Given the description of an element on the screen output the (x, y) to click on. 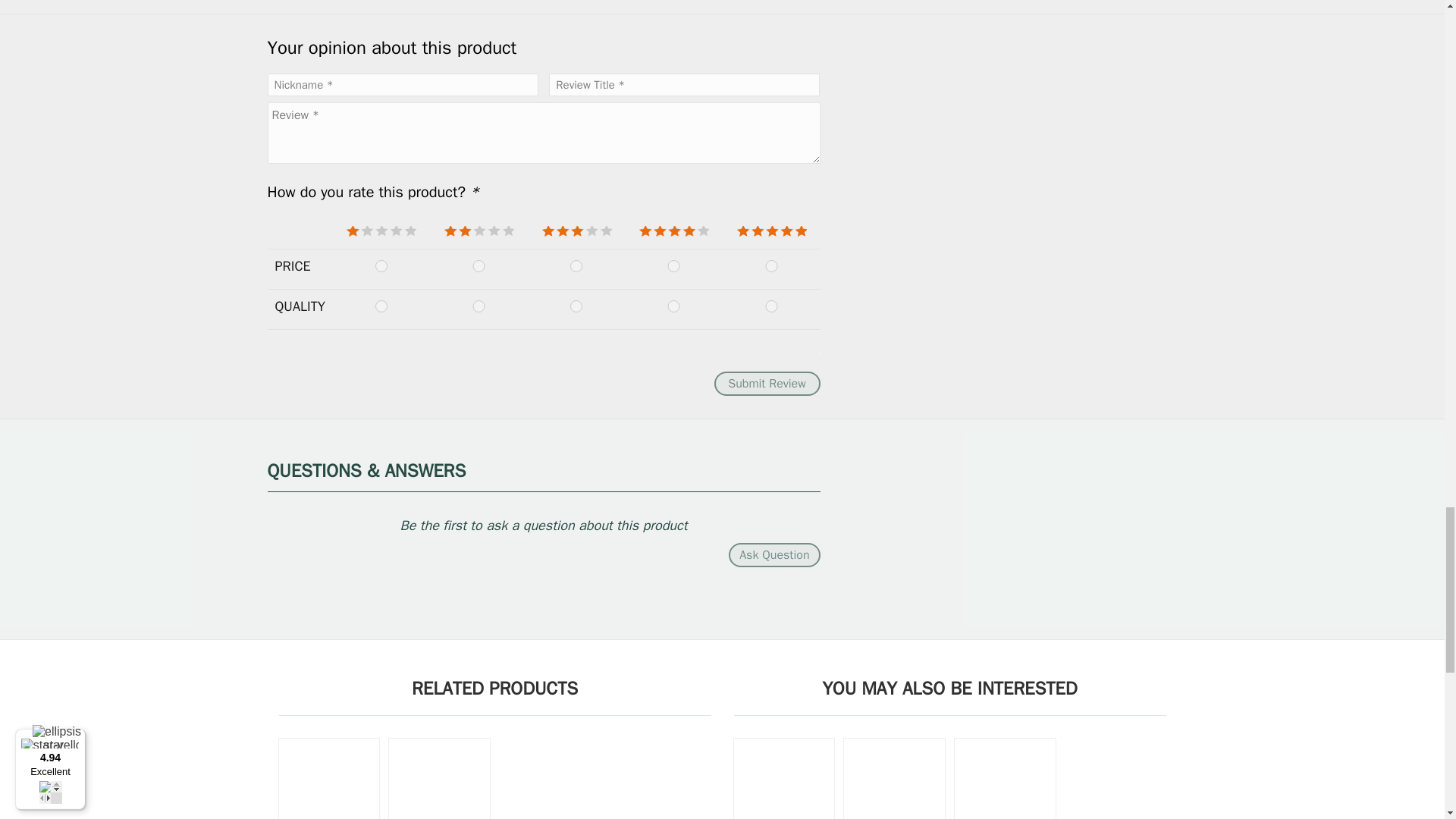
15 (771, 265)
12 (478, 265)
1 (381, 306)
14 (673, 265)
11 (381, 265)
5 (771, 306)
4 (673, 306)
13 (576, 265)
3 (576, 306)
2 (478, 306)
